Given the description of an element on the screen output the (x, y) to click on. 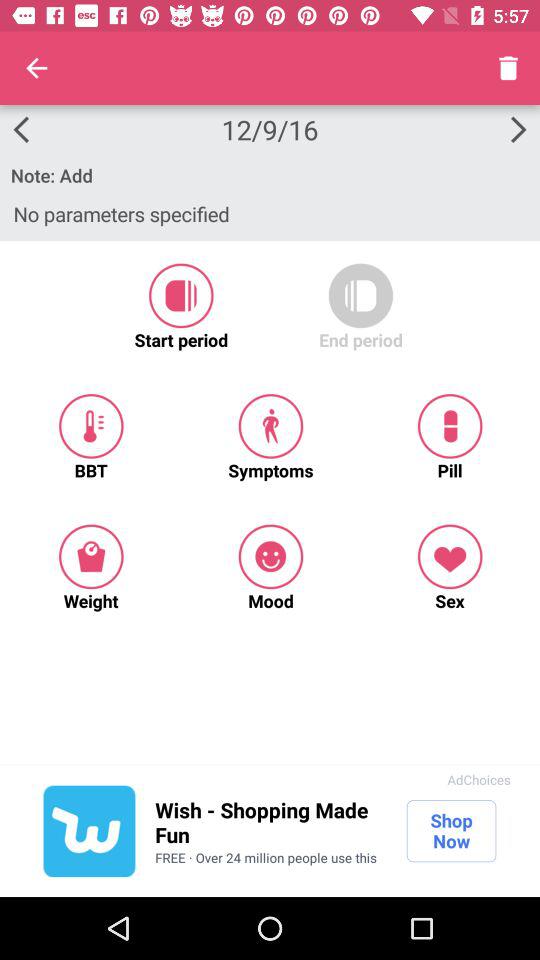
jump to the note: add item (269, 175)
